Given the description of an element on the screen output the (x, y) to click on. 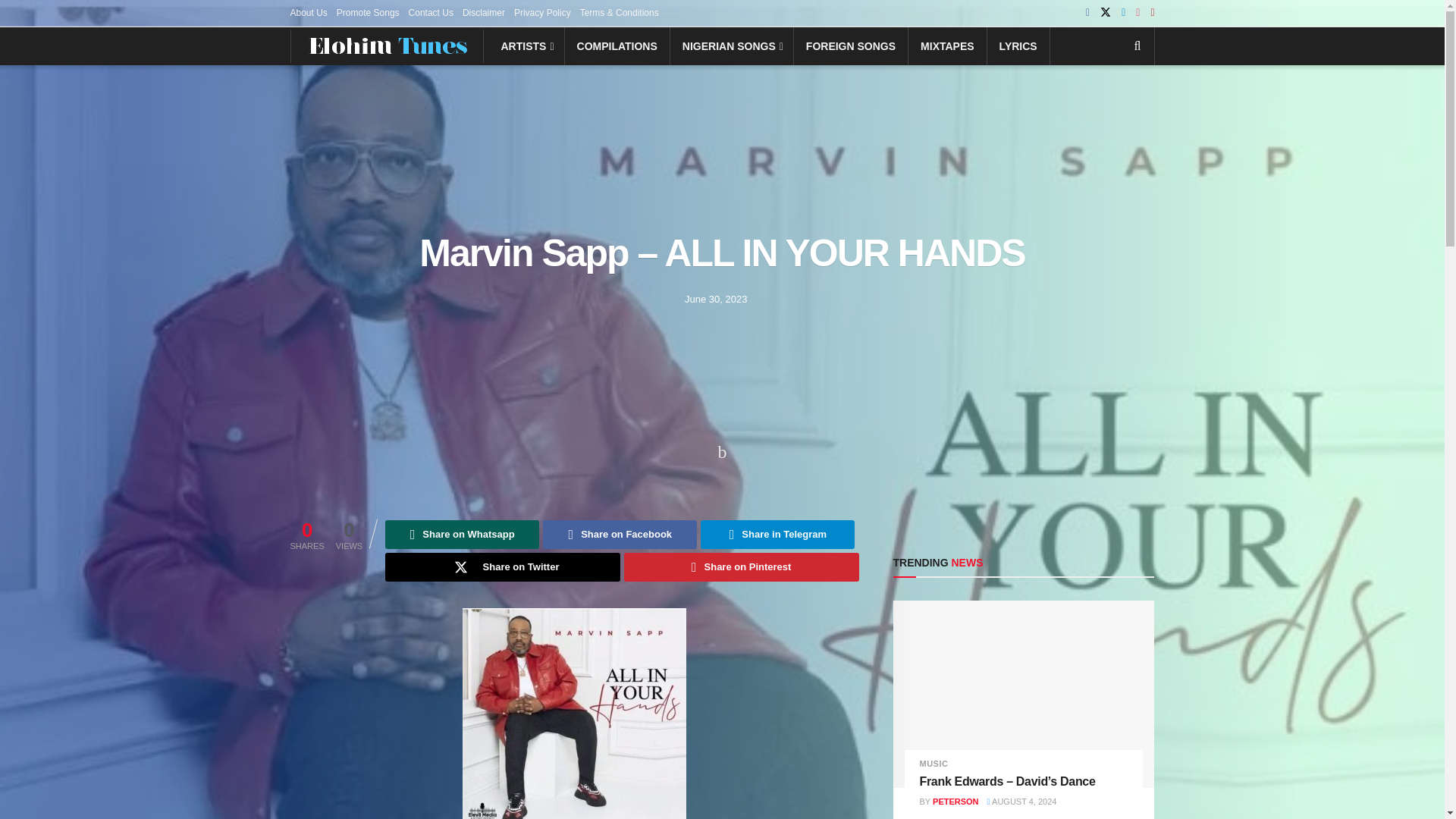
COMPILATIONS (616, 46)
NIGERIAN SONGS (731, 46)
MIXTAPES (947, 46)
Contact Us (430, 12)
FOREIGN SONGS (850, 46)
About Us (307, 12)
LYRICS (1018, 46)
Disclaimer (484, 12)
ARTISTS (525, 46)
Promote Songs (367, 12)
Privacy Policy (541, 12)
